Given the description of an element on the screen output the (x, y) to click on. 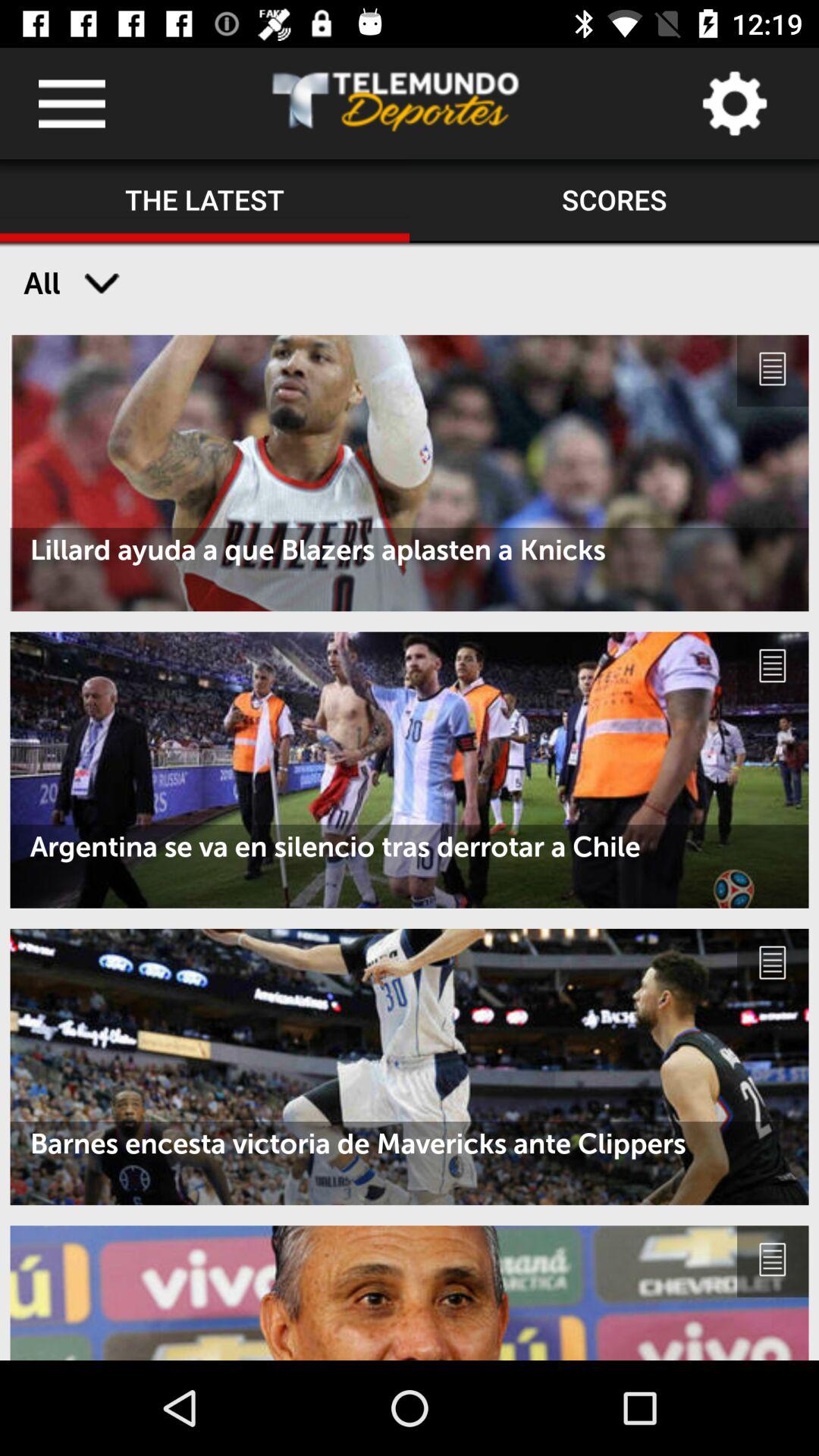
flip to the scores icon (614, 200)
